Given the description of an element on the screen output the (x, y) to click on. 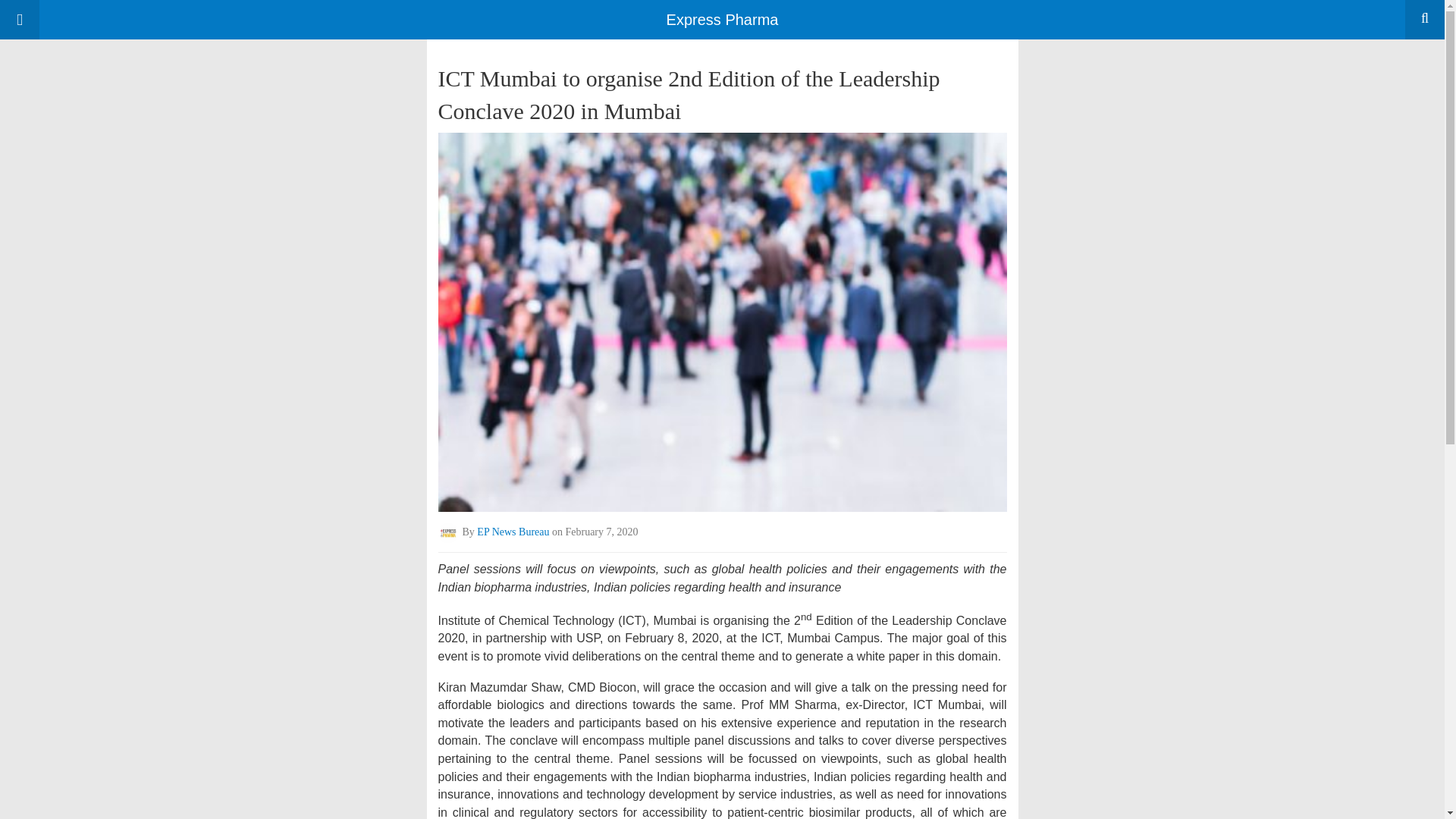
EP News Bureau (512, 532)
